Given the description of an element on the screen output the (x, y) to click on. 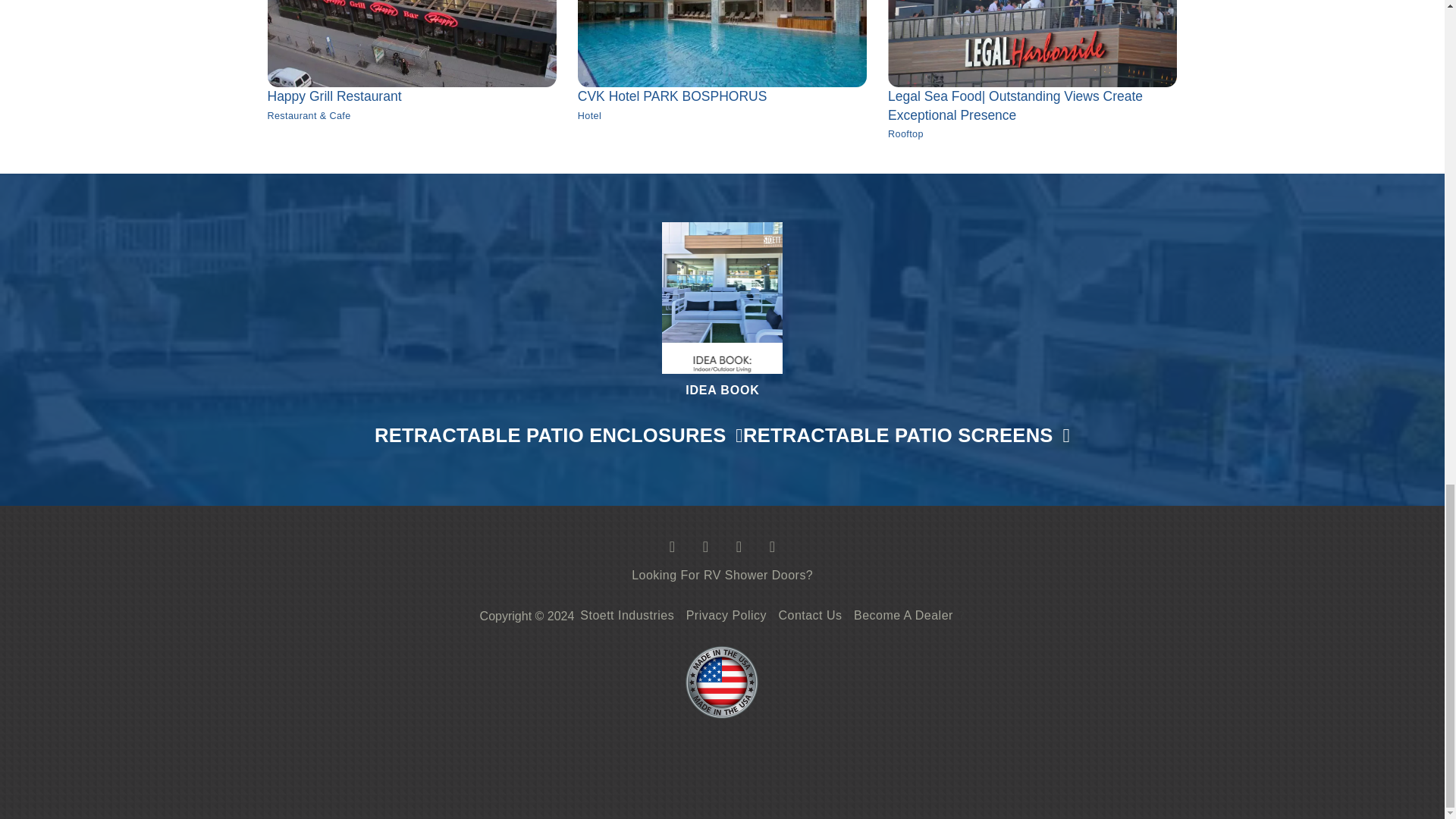
Looking For RV Shower Doors? (722, 575)
RETRACTABLE PATIO ENCLOSURES (558, 435)
RETRACTABLE PATIO SCREENS (906, 435)
IDEA BOOK (722, 69)
